Given the description of an element on the screen output the (x, y) to click on. 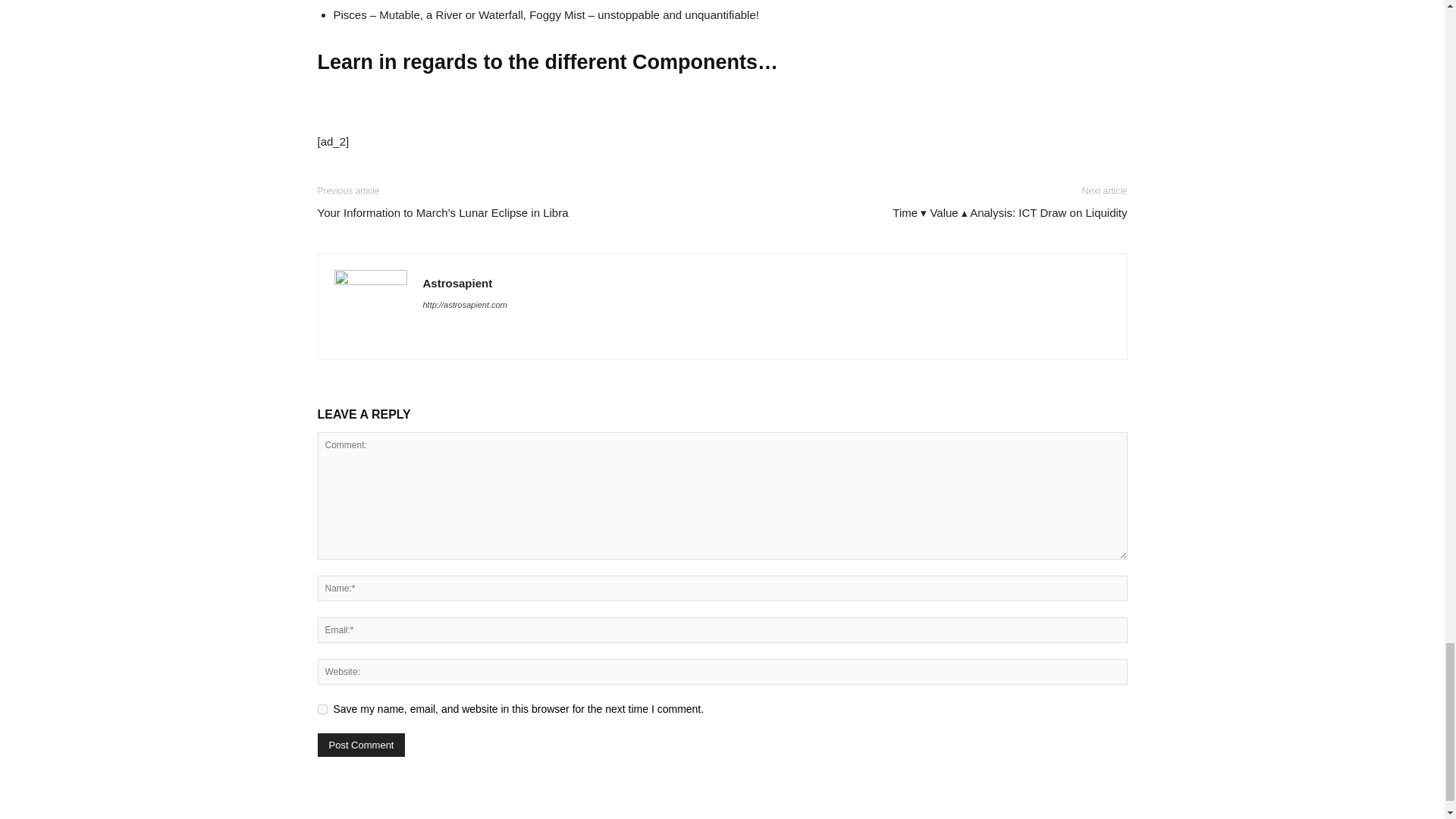
yes (321, 709)
Astrosapient (458, 282)
Post Comment (360, 744)
Post Comment (360, 744)
